Given the description of an element on the screen output the (x, y) to click on. 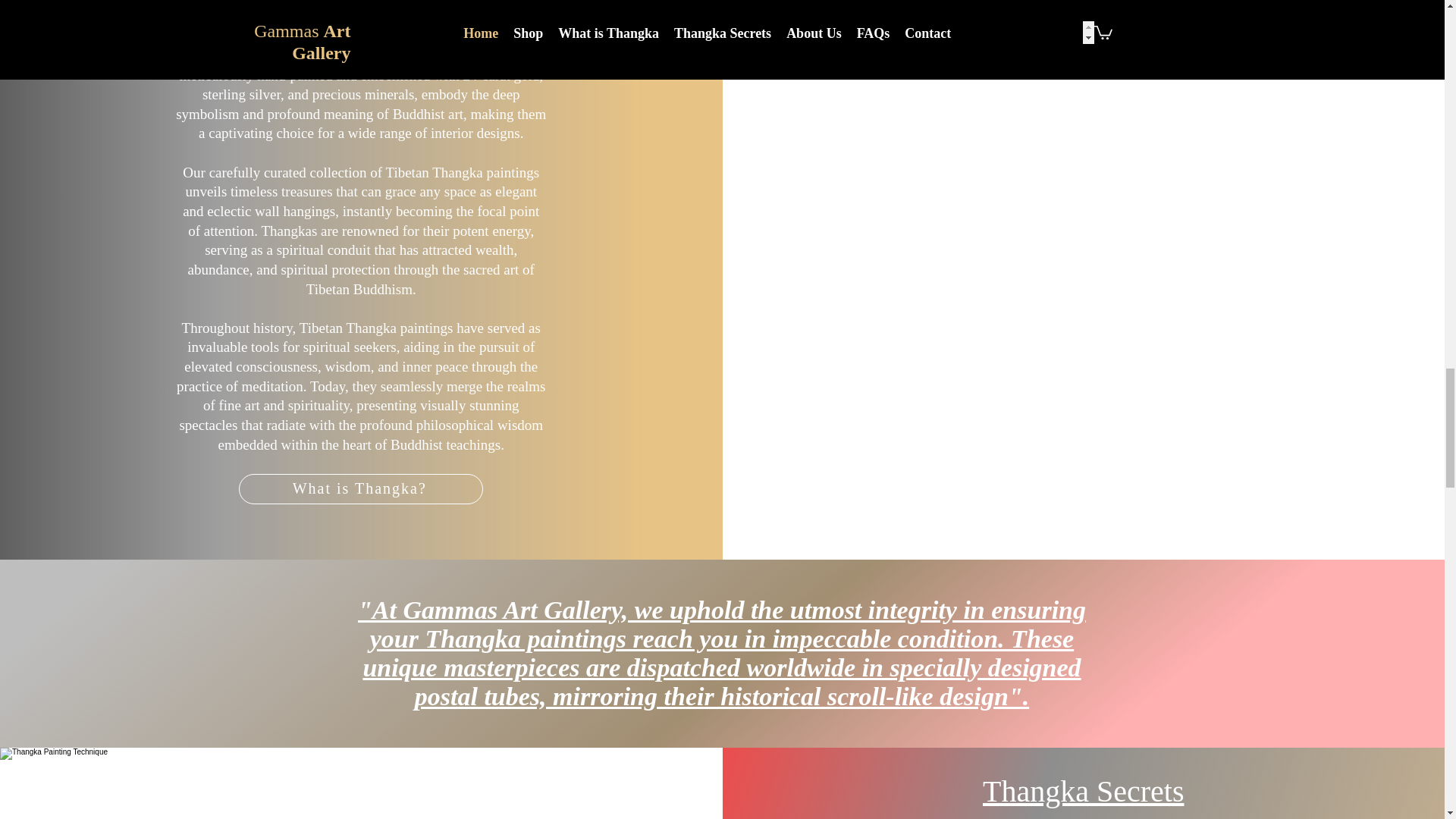
What is Thangka? (360, 489)
Thangka Secrets (1082, 790)
